Given the description of an element on the screen output the (x, y) to click on. 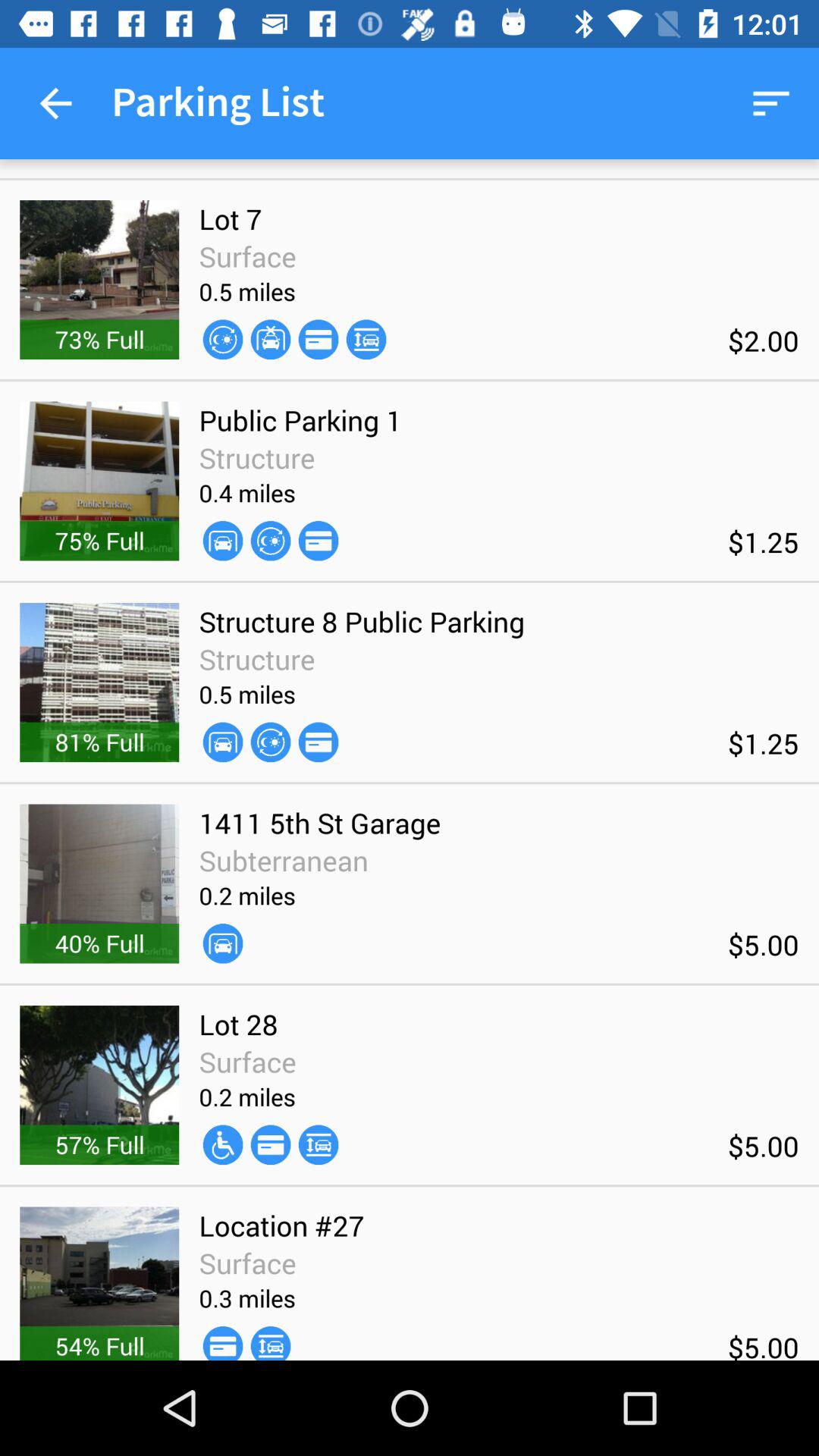
tap the icon next to the 0.4 miles (318, 540)
